Given the description of an element on the screen output the (x, y) to click on. 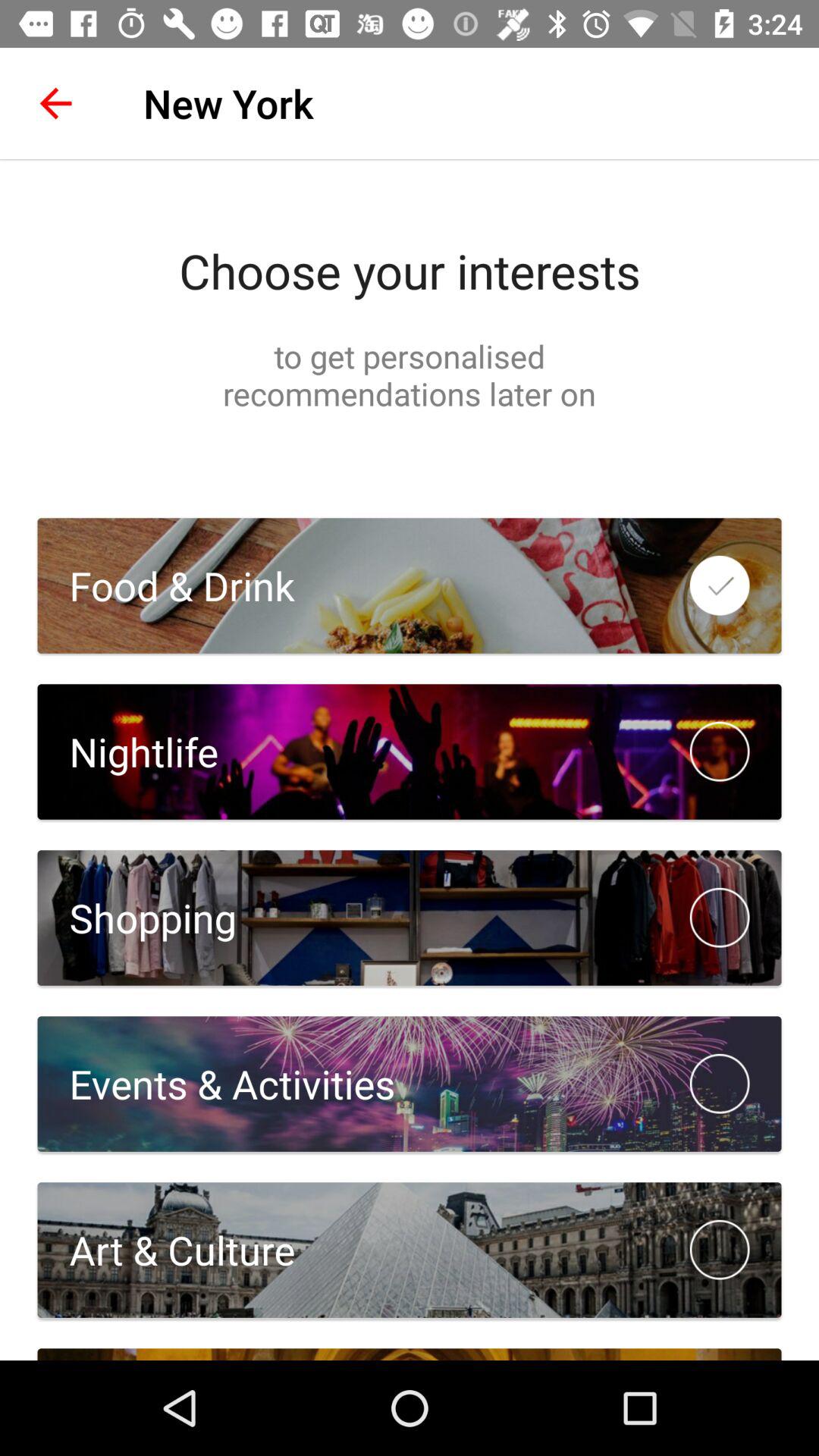
swipe to choose your interests icon (409, 270)
